Given the description of an element on the screen output the (x, y) to click on. 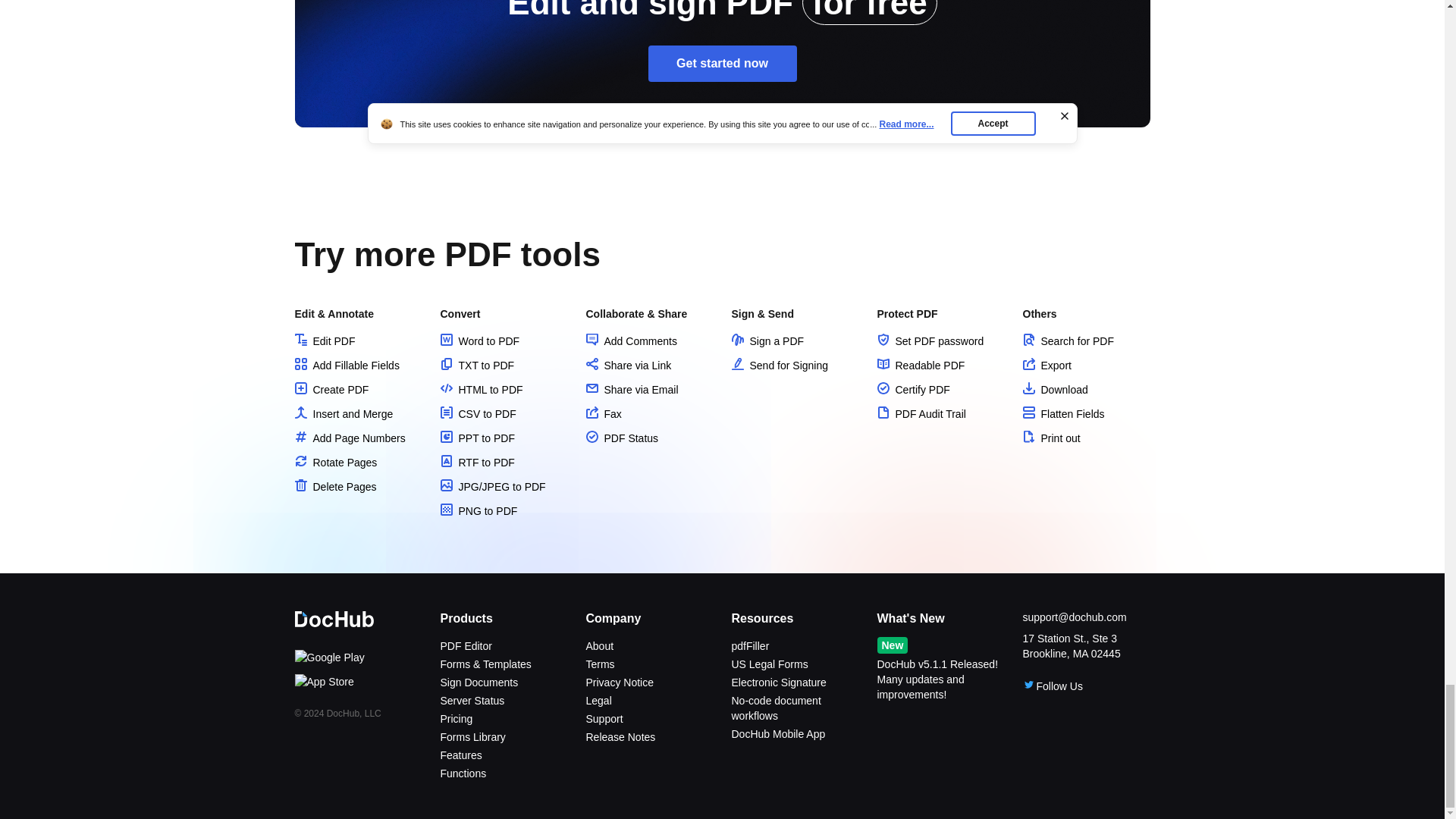
Add Comments (631, 340)
Word to PDF (479, 340)
Add Page Numbers (349, 438)
Edit PDF (324, 340)
CSV to PDF (477, 413)
Share via Email (631, 389)
Add Fillable Fields (346, 365)
Insert and Merge (343, 413)
TXT to PDF (476, 365)
PPT to PDF (476, 438)
Delete Pages (334, 486)
HTML to PDF (480, 389)
Share via Link (628, 365)
Rotate Pages (335, 462)
Fax (603, 413)
